Given the description of an element on the screen output the (x, y) to click on. 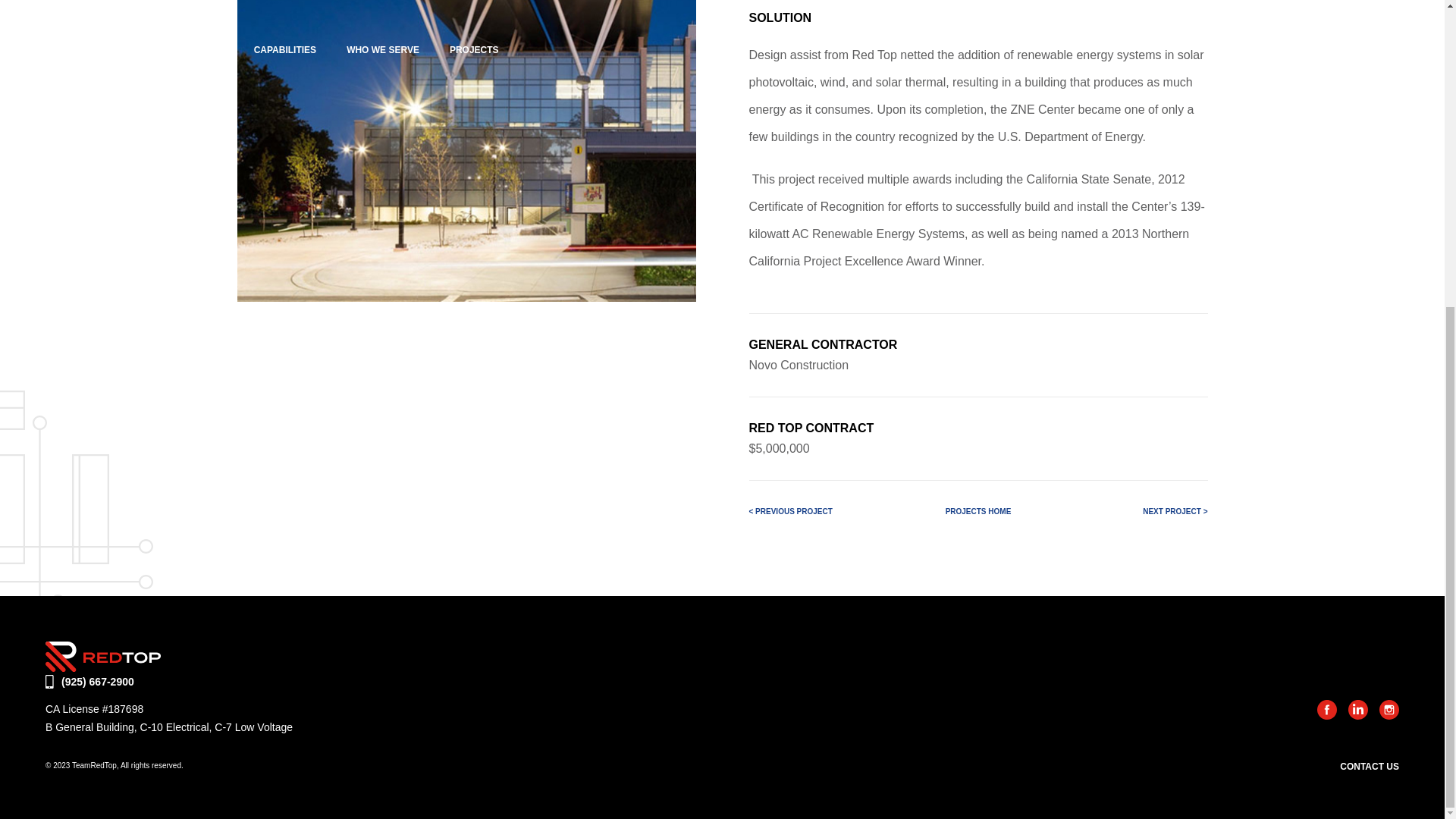
Red Top (102, 667)
CONTACT US (1369, 766)
PROJECTS HOME (977, 510)
